Given the description of an element on the screen output the (x, y) to click on. 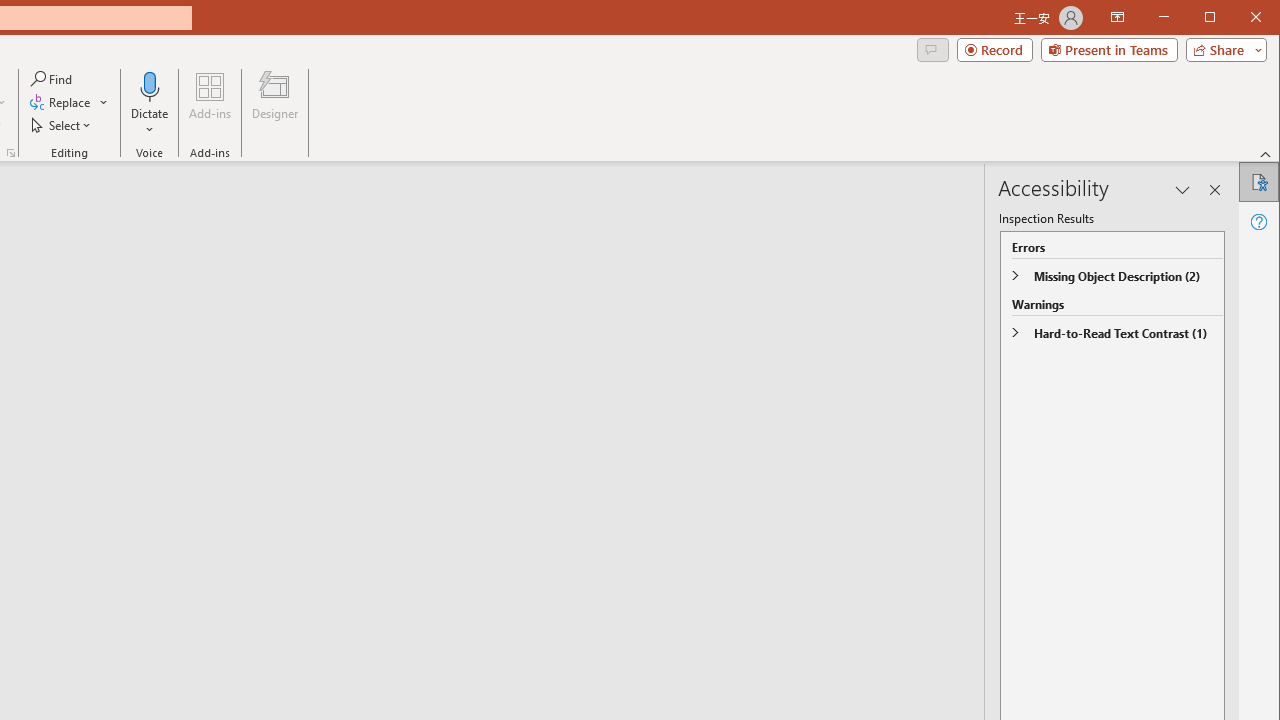
Maximize (1238, 18)
